Given the description of an element on the screen output the (x, y) to click on. 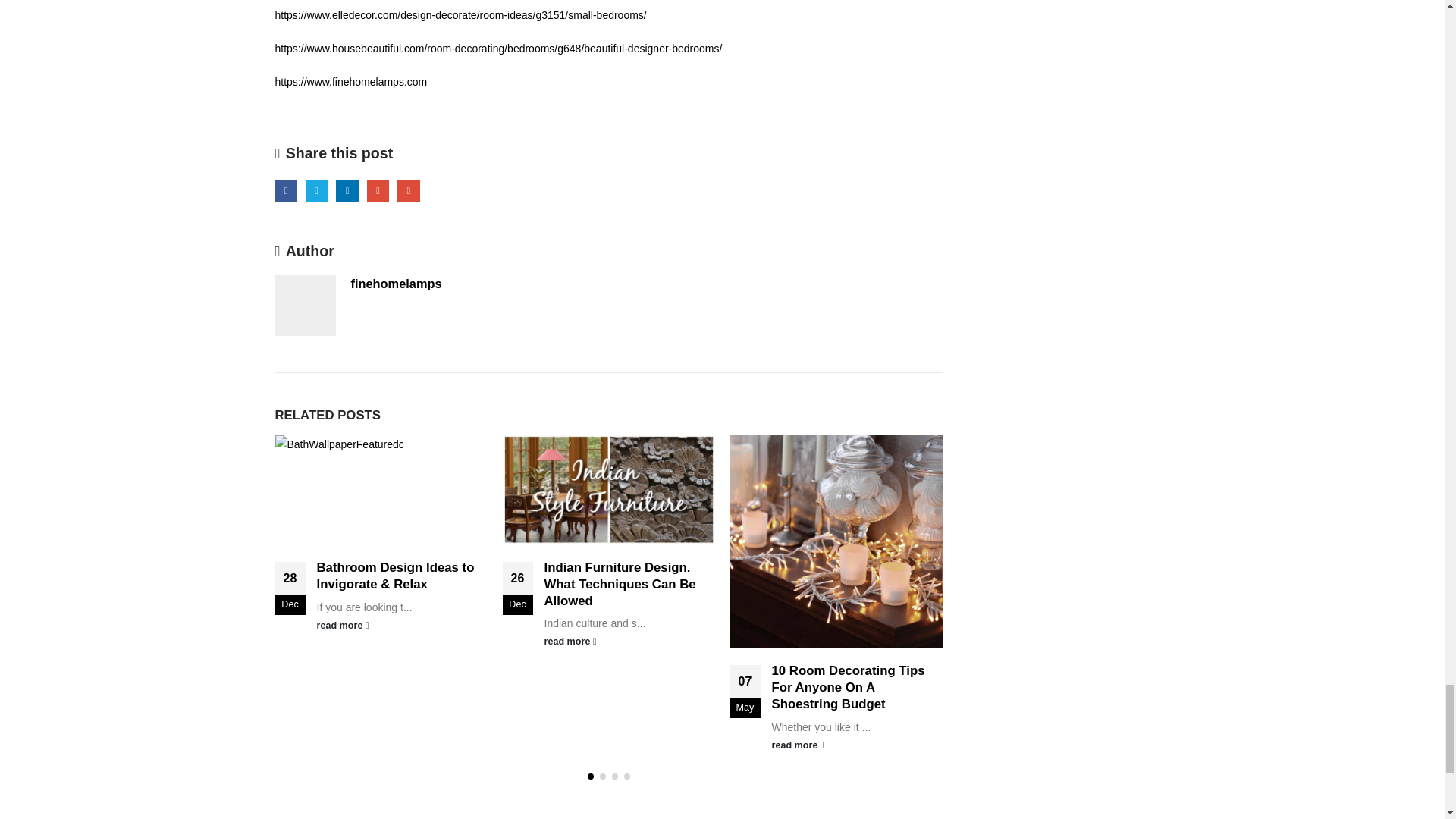
Facebook (286, 191)
Twitter (316, 191)
